Given the description of an element on the screen output the (x, y) to click on. 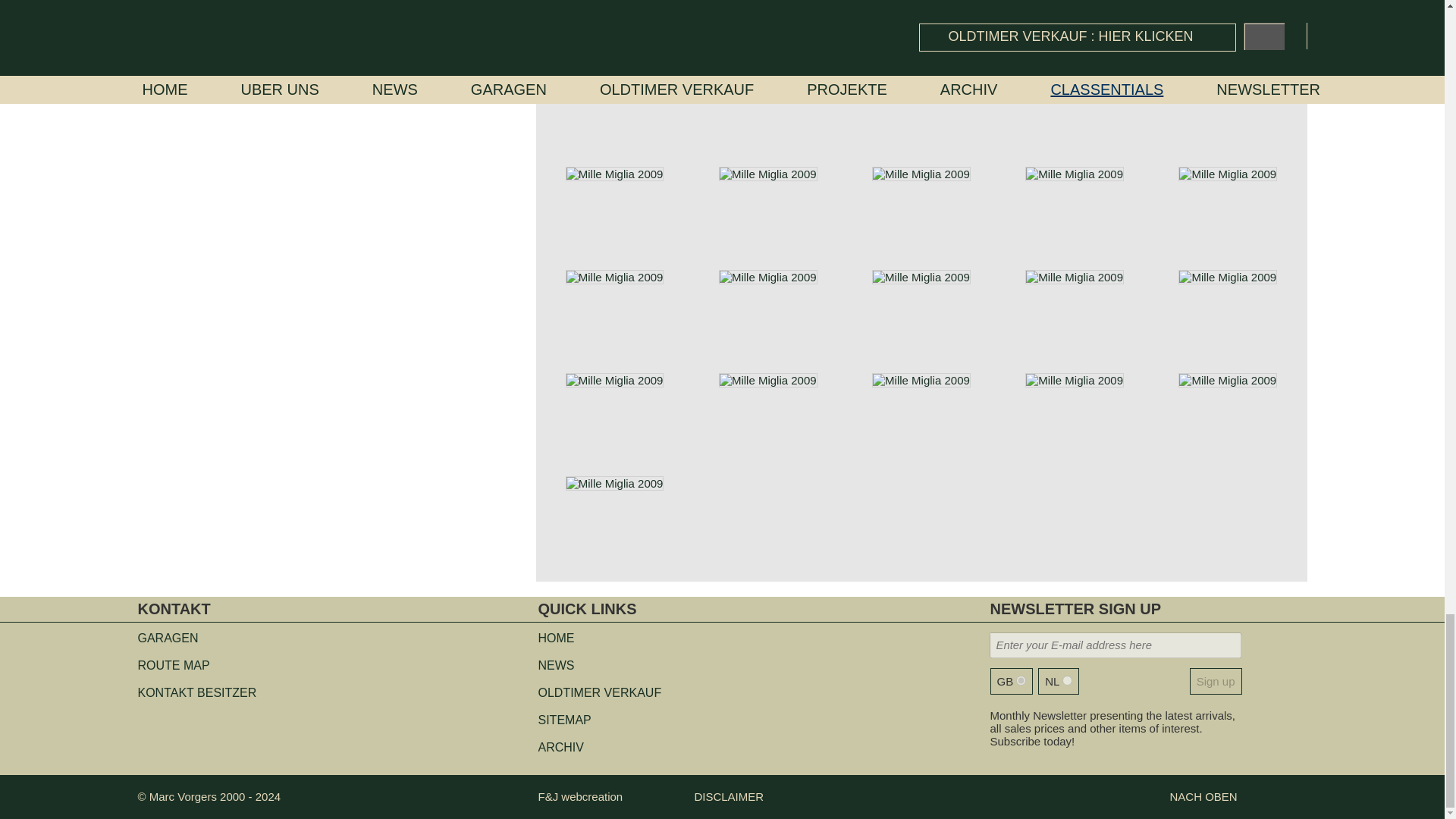
nl (1066, 680)
Sign up (1215, 680)
en (1021, 680)
